Given the description of an element on the screen output the (x, y) to click on. 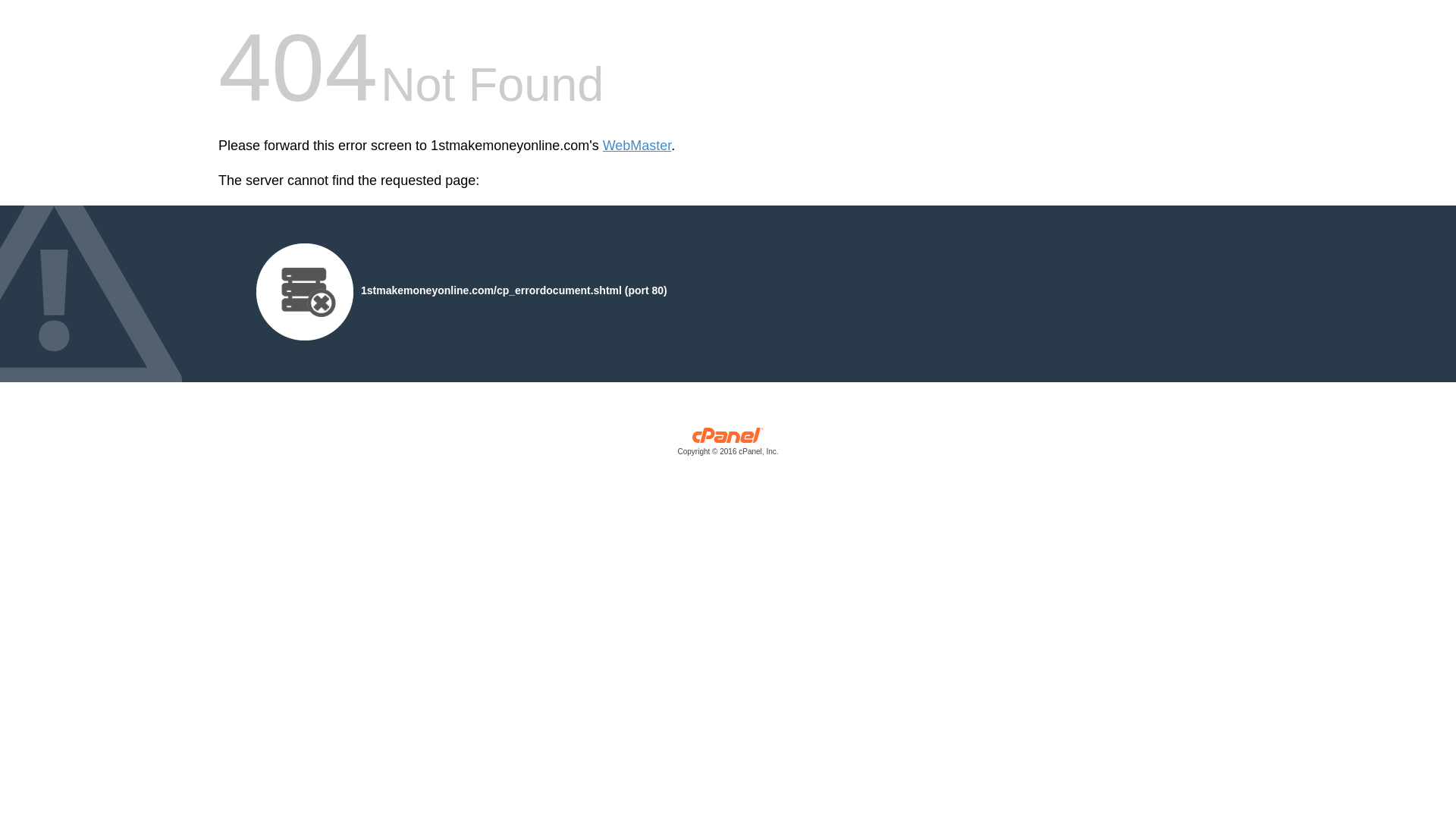
WebMaster Element type: text (636, 145)
